Given the description of an element on the screen output the (x, y) to click on. 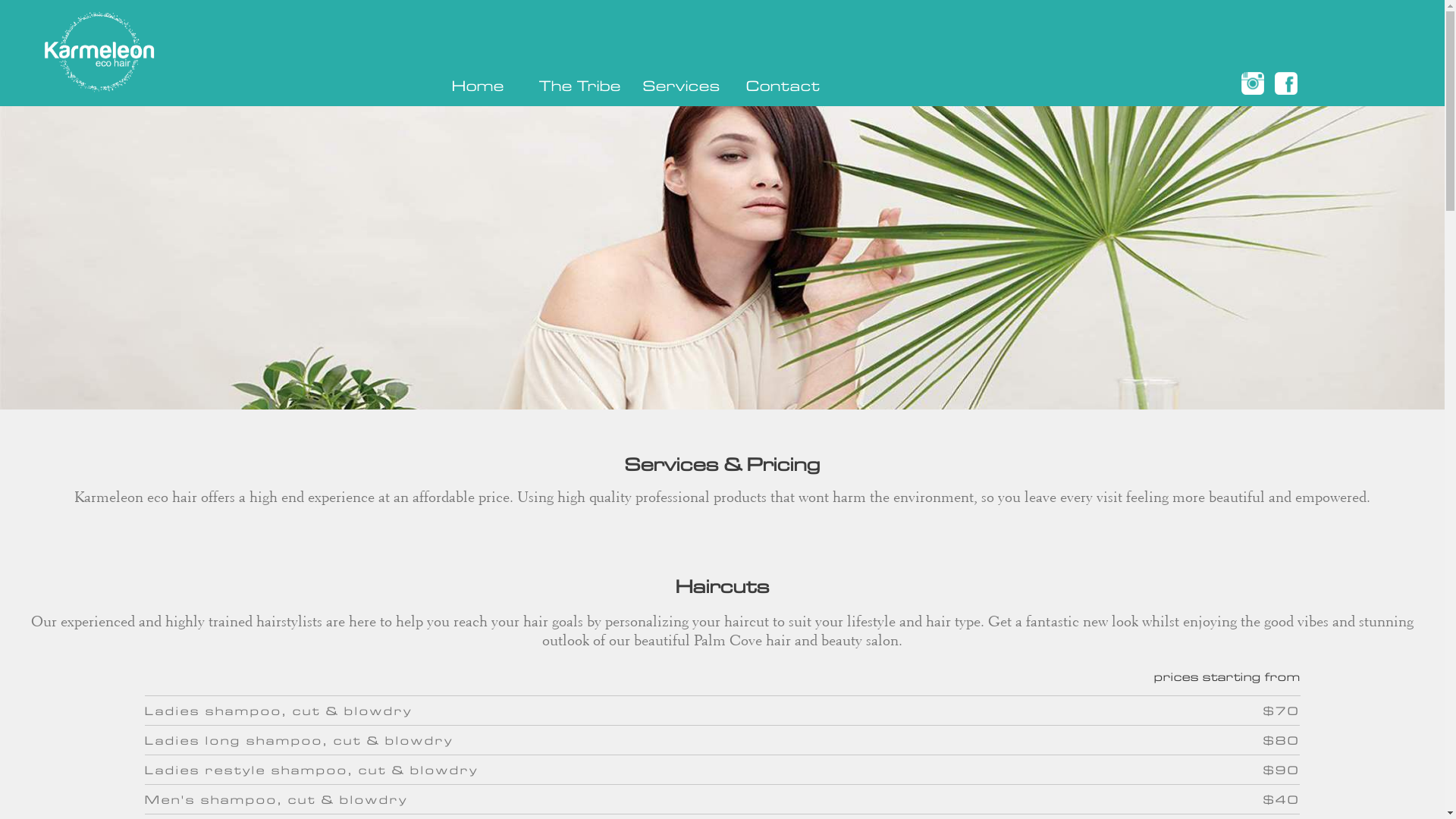
Home Element type: text (477, 83)
instagram Element type: hover (1252, 83)
facebook Element type: hover (1285, 83)
The Tribe Element type: text (578, 83)
Services Element type: text (680, 83)
Contact Element type: text (782, 83)
